Given the description of an element on the screen output the (x, y) to click on. 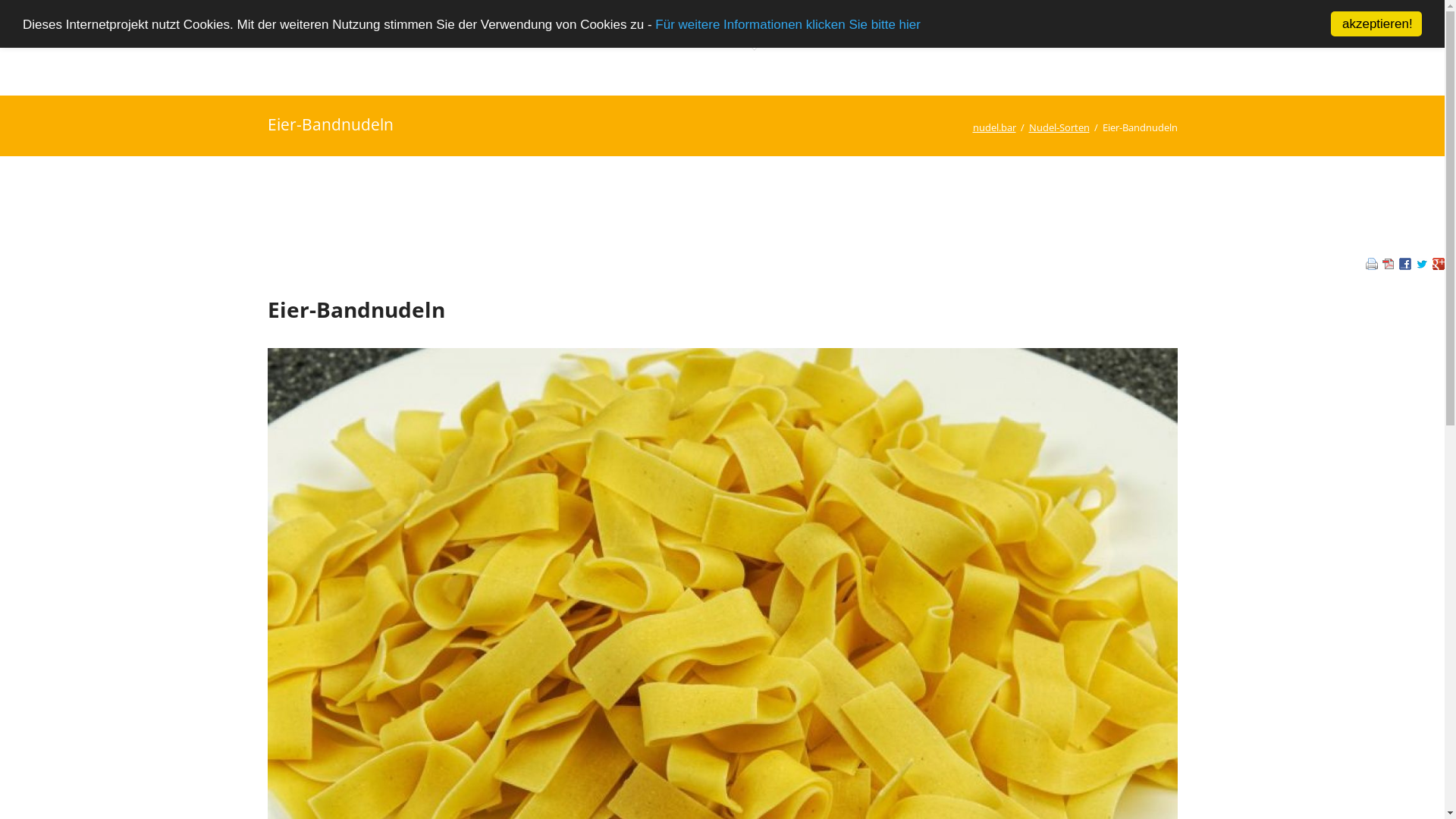
Auf Facebook teilen Element type: hover (1405, 265)
BUCH-TIPPS Element type: text (1011, 21)
Auf Twitter teilen Element type: hover (1421, 265)
NUDEL-SORTEN Element type: text (754, 21)
Auf Google+ teilen Element type: hover (1438, 265)
HOME Element type: text (649, 21)
IMPRESSUM Element type: text (1314, 21)
Nudel-Sorten Element type: text (1058, 127)
PRODUKTEMPFEHLUNGEN Element type: text (1163, 21)
akzeptieren! Element type: text (1375, 23)
Artikel als PDF speichern Element type: hover (1388, 265)
Diese Seite drucken Element type: hover (1371, 265)
NUDEL-REZEPTE Element type: text (888, 21)
nudel.bar Element type: text (993, 127)
Suche starten Element type: text (1405, 22)
Advertisement Element type: hover (721, 208)
